Given the description of an element on the screen output the (x, y) to click on. 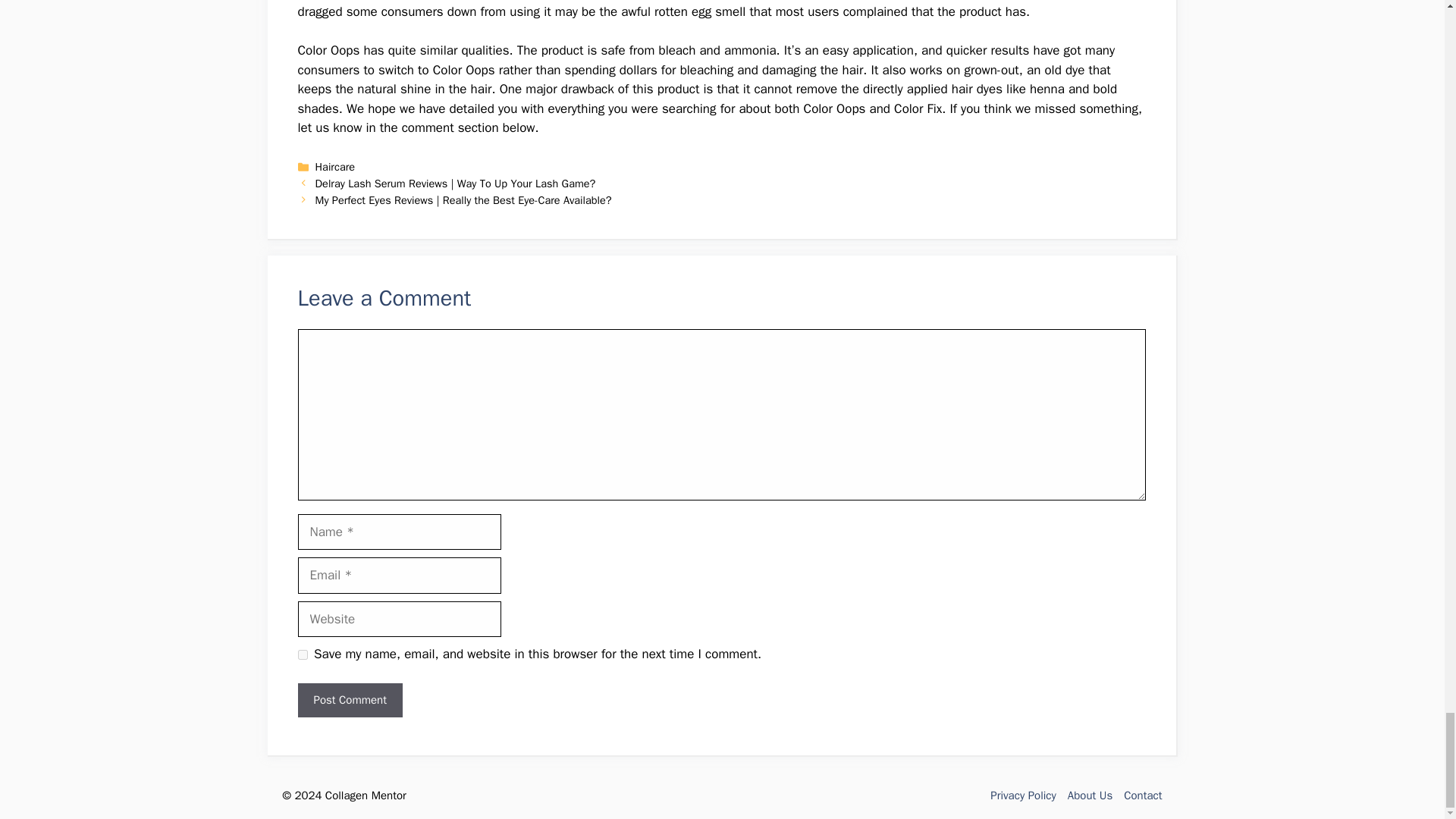
Post Comment (349, 700)
yes (302, 655)
